Given the description of an element on the screen output the (x, y) to click on. 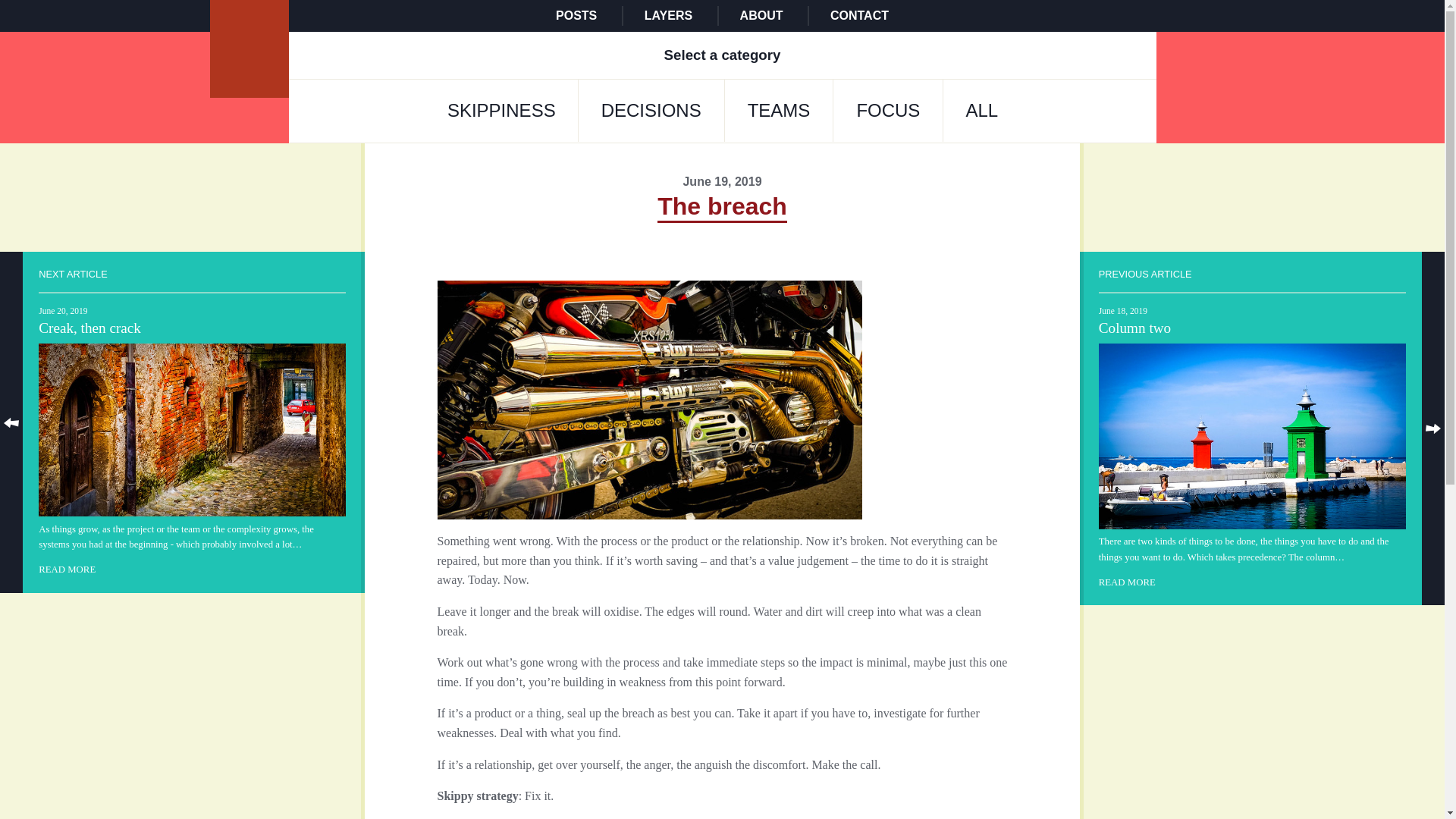
Creak, then crack (192, 420)
The breach (722, 206)
CONTACT (858, 15)
LAYERS (669, 15)
FOCUS (887, 110)
SKIPPINESS (501, 110)
TEAMS (778, 110)
DECISIONS (651, 110)
ABOUT (761, 15)
POSTS (576, 15)
